Given the description of an element on the screen output the (x, y) to click on. 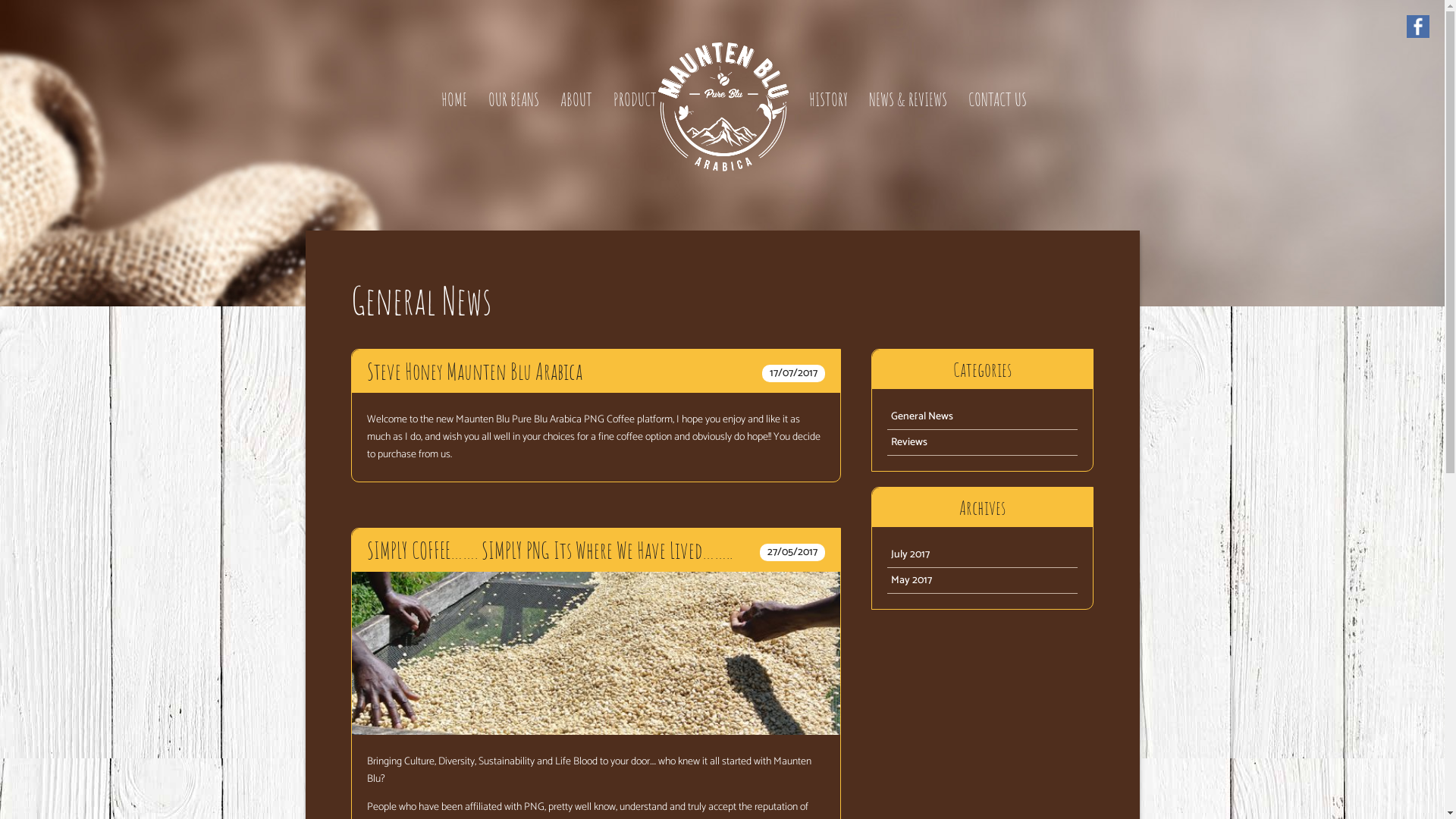
Steve Honey Maunten Blu Arabica Element type: text (595, 370)
HISTORY Element type: text (827, 98)
OUR BEANS Element type: text (513, 98)
NEWS & REVIEWS Element type: text (908, 98)
HOME Element type: text (454, 98)
July 2017 Element type: text (982, 554)
General News Element type: text (982, 416)
PRODUCT Element type: text (633, 98)
May 2017 Element type: text (982, 580)
ABOUT Element type: text (575, 98)
Reviews Element type: text (982, 442)
CONTACT US Element type: text (996, 98)
